Given the description of an element on the screen output the (x, y) to click on. 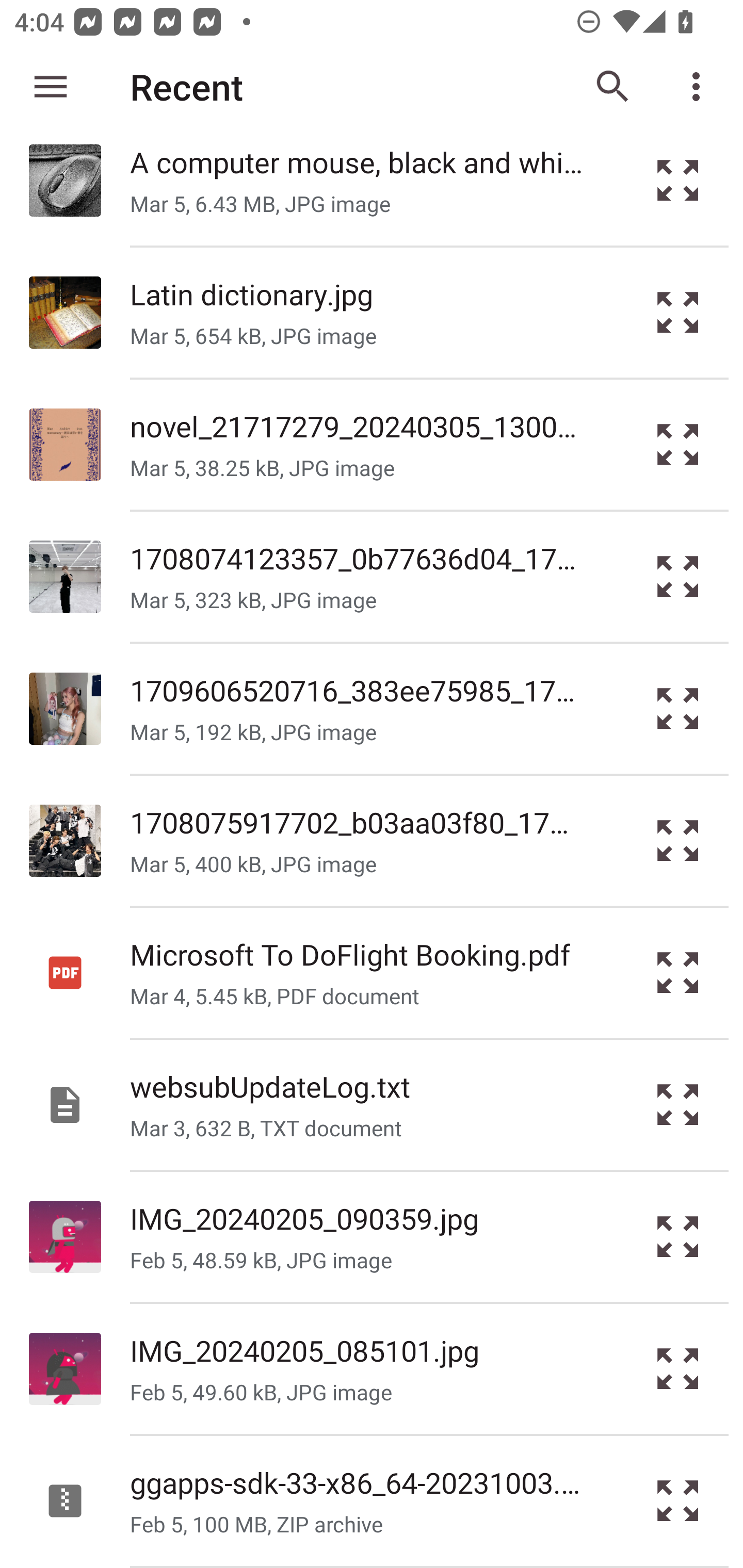
Show roots (50, 86)
Search (612, 86)
More options (699, 86)
Preview the file Latin dictionary.jpg (677, 312)
Preview the file Microsoft To DoFlight Booking.pdf (677, 972)
Preview the file websubUpdateLog.txt (677, 1104)
Preview the file IMG_20240205_090359.jpg (677, 1236)
Preview the file IMG_20240205_085101.jpg (677, 1368)
Preview the file ggapps-sdk-33-x86_64-20231003.zip (677, 1501)
